Given the description of an element on the screen output the (x, y) to click on. 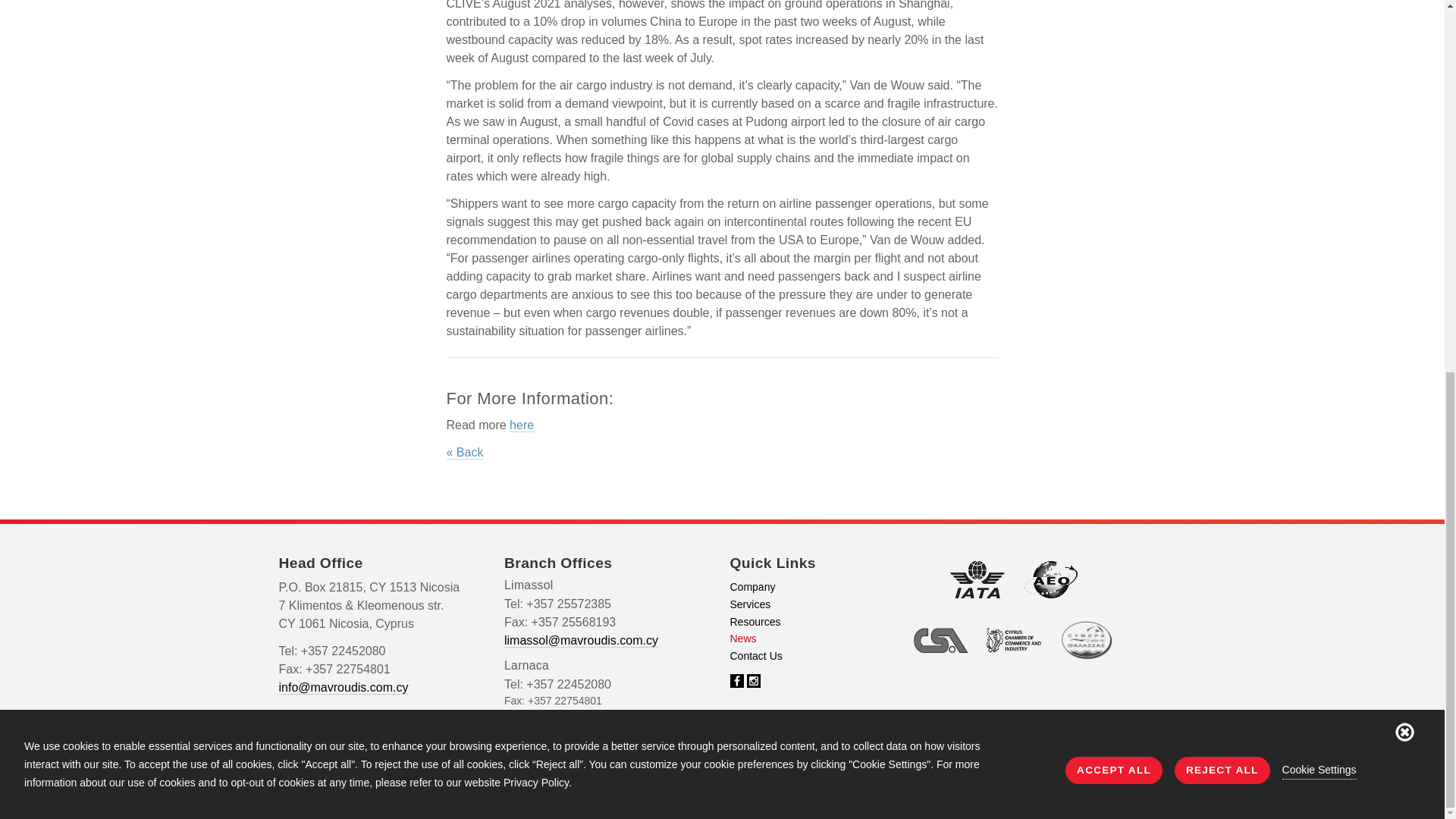
Dismiss Banner (1403, 53)
